Given the description of an element on the screen output the (x, y) to click on. 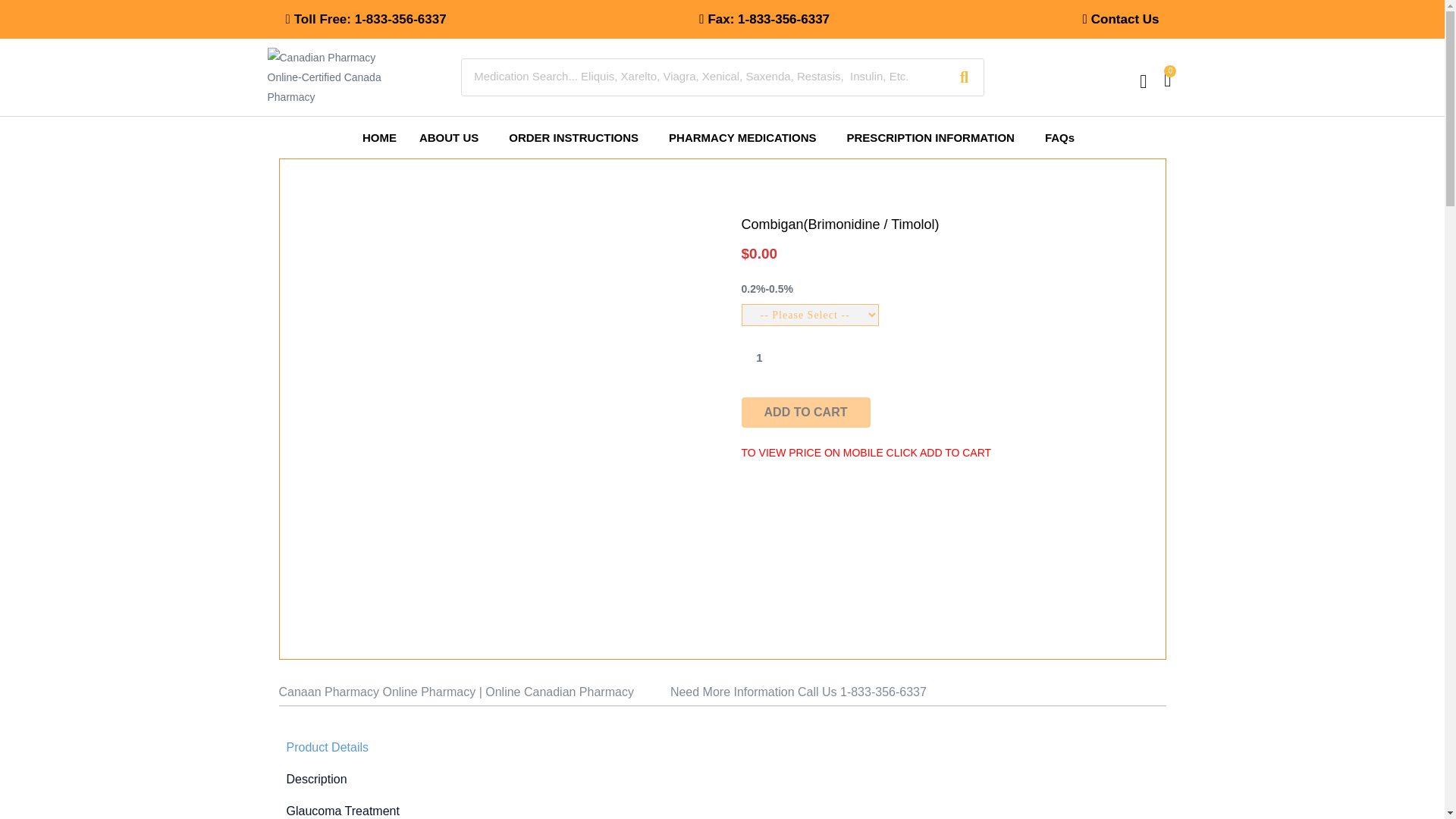
Toll Free: 1-833-356-6337 (365, 19)
1 (759, 357)
Search (702, 75)
Search (963, 76)
Contact Us (1120, 19)
Fax: 1-833-356-6337 (764, 19)
HOME (378, 137)
ABOUT US (452, 137)
